Given the description of an element on the screen output the (x, y) to click on. 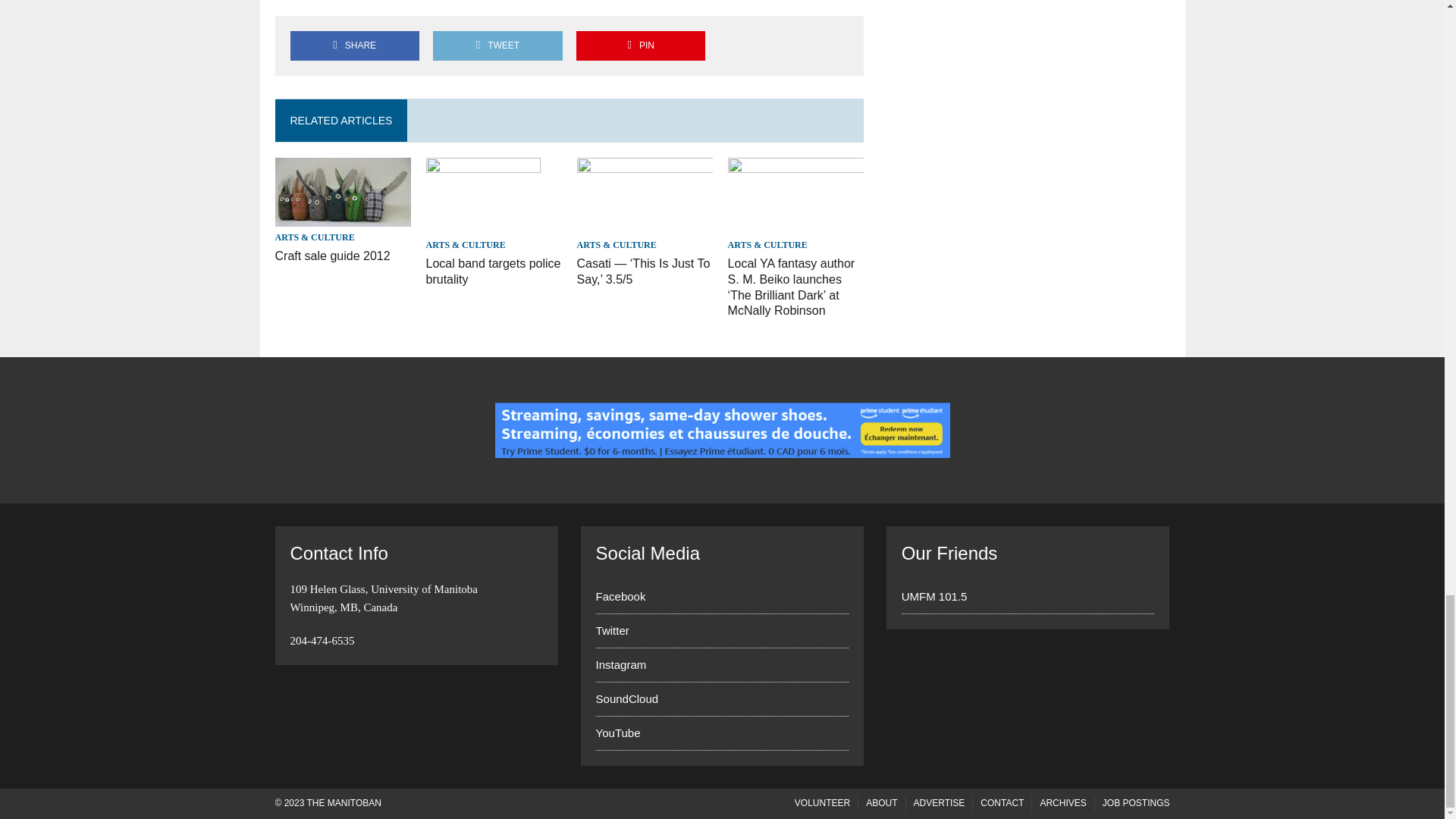
Share on Facebook (354, 45)
Local band targets police brutality (483, 223)
Local band targets police brutality (493, 271)
Tweet This Post (497, 45)
Pin This Post (640, 45)
Craft sale guide 2012 (332, 255)
Craft sale guide 2012 (342, 215)
